Given the description of an element on the screen output the (x, y) to click on. 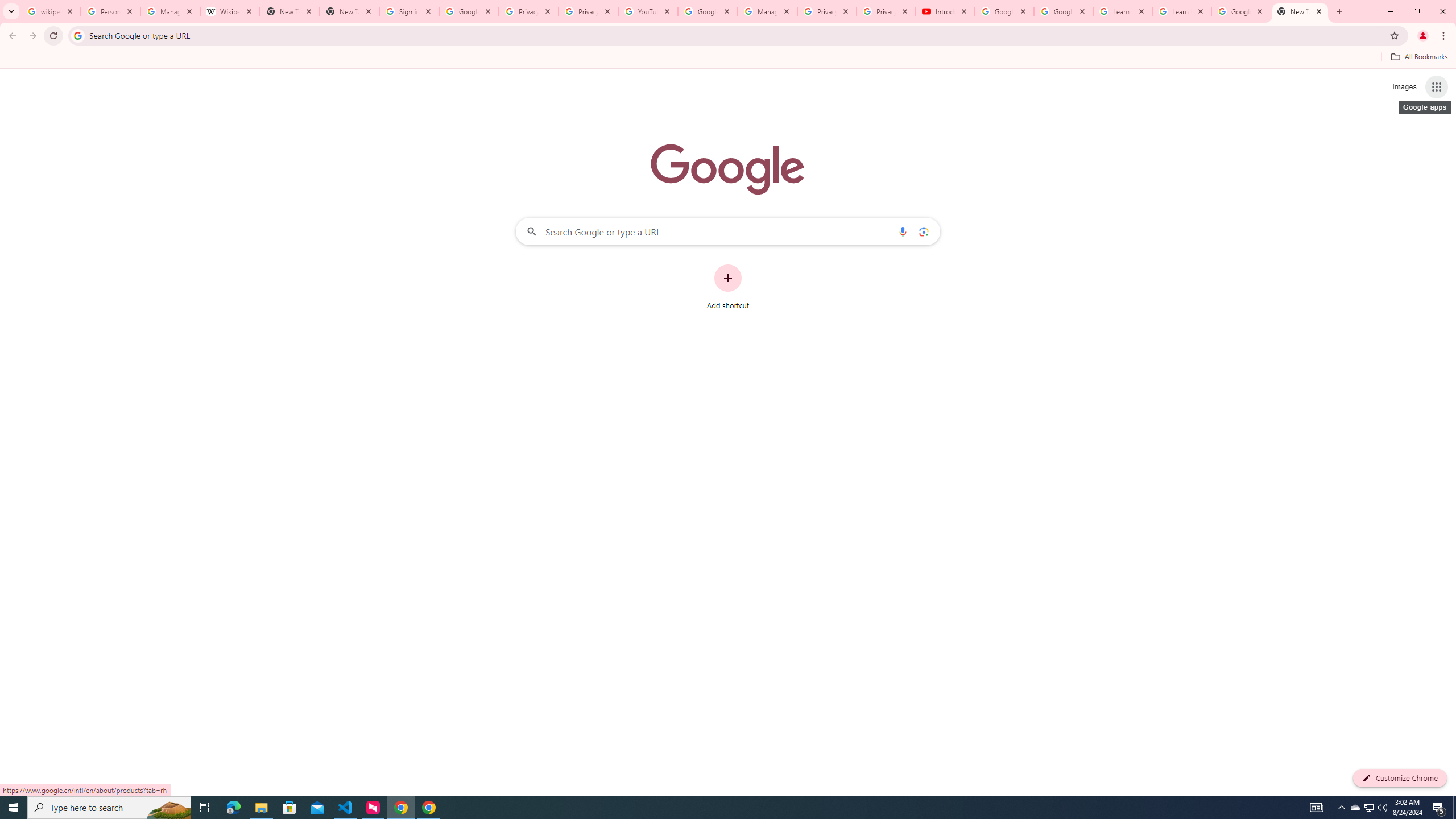
Manage your Location History - Google Search Help (170, 11)
Introduction | Google Privacy Policy - YouTube (944, 11)
Google Account Help (707, 11)
Search by voice (902, 230)
Google Drive: Sign-in (468, 11)
